Given the description of an element on the screen output the (x, y) to click on. 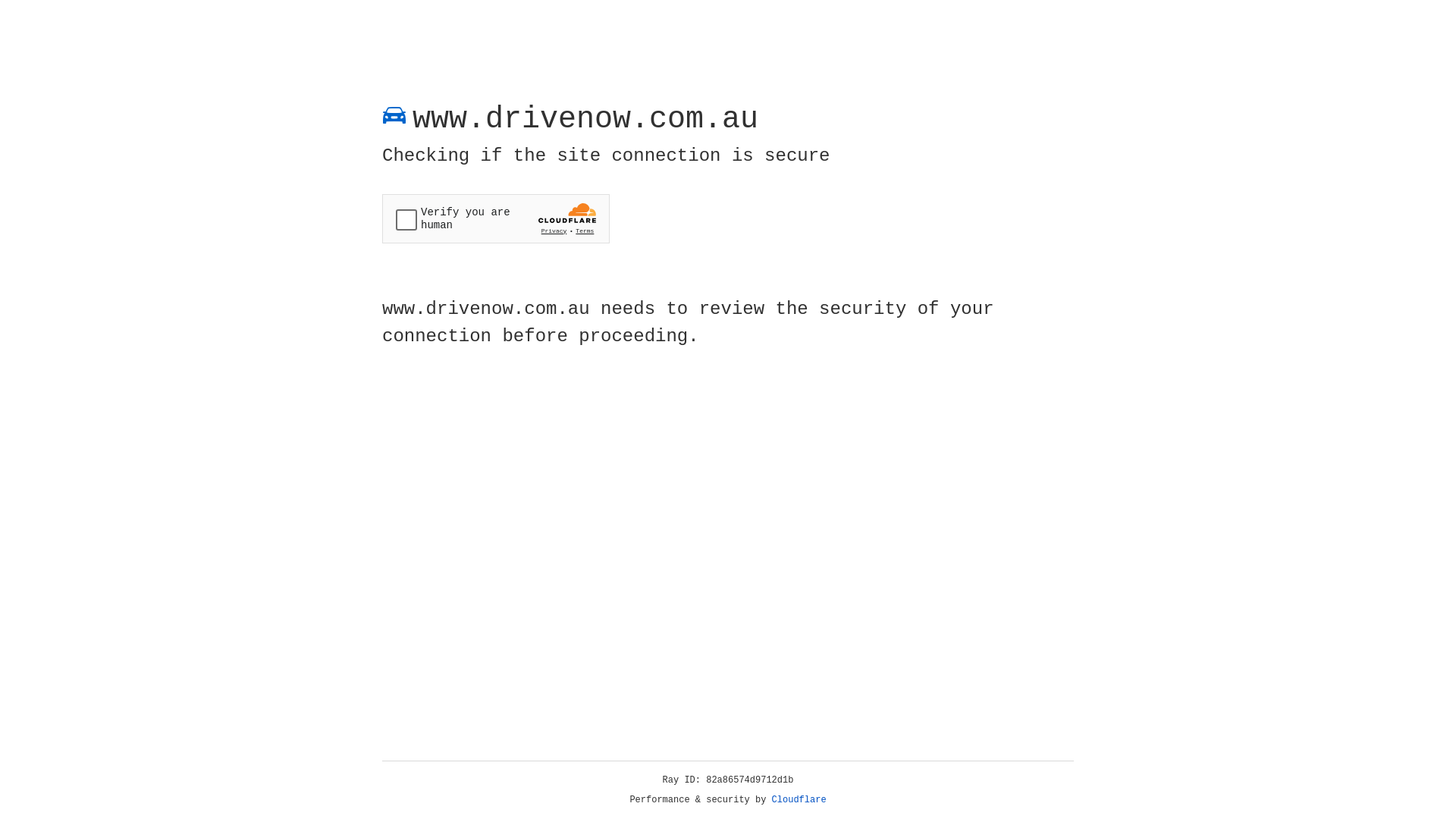
Widget containing a Cloudflare security challenge Element type: hover (495, 218)
Cloudflare Element type: text (798, 799)
